Given the description of an element on the screen output the (x, y) to click on. 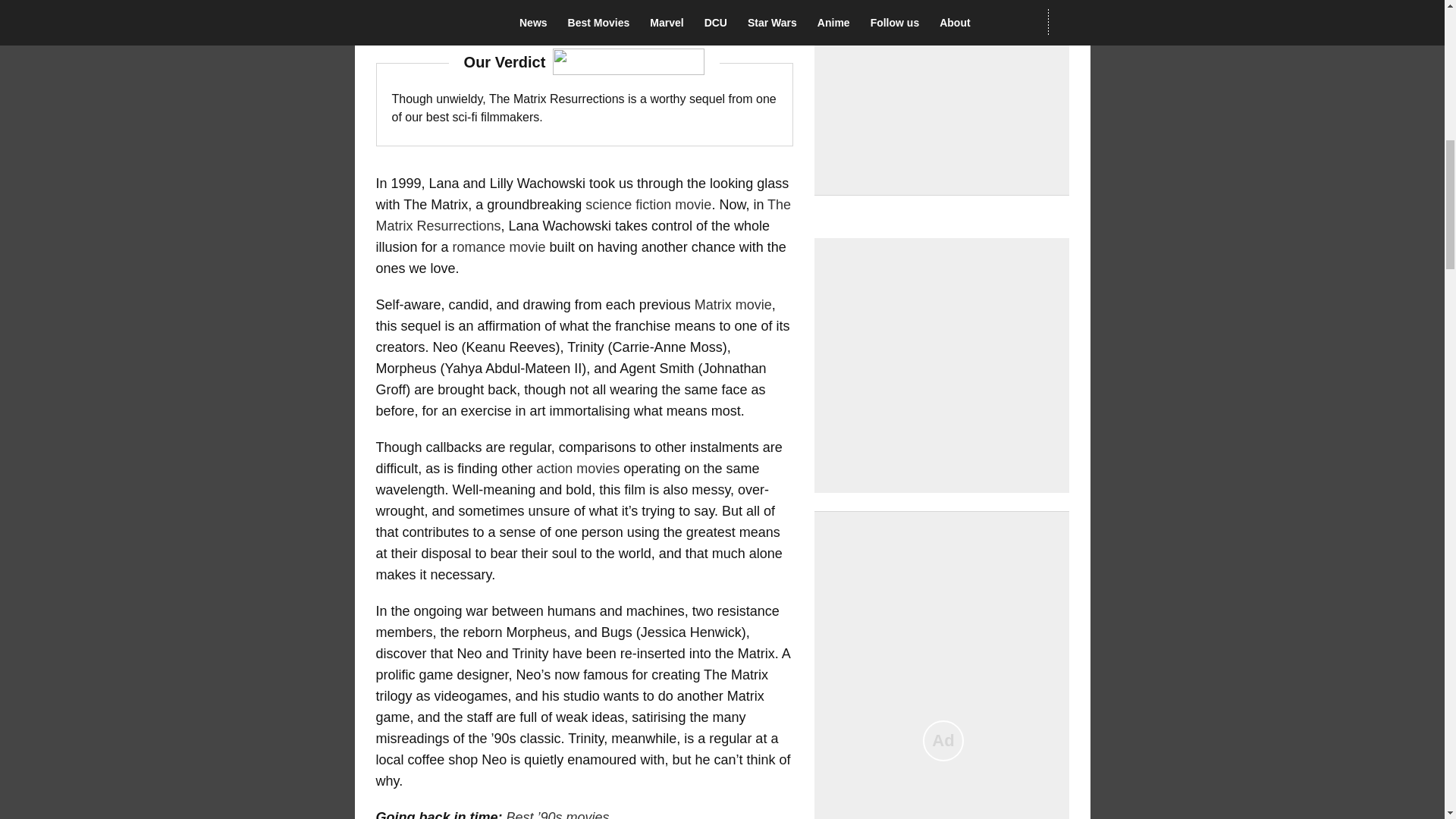
science fiction movie (648, 204)
romance movie (499, 246)
The Matrix (451, 21)
The Matrix Resurrections (583, 215)
action movies (577, 468)
Matrix movie (732, 304)
